Given the description of an element on the screen output the (x, y) to click on. 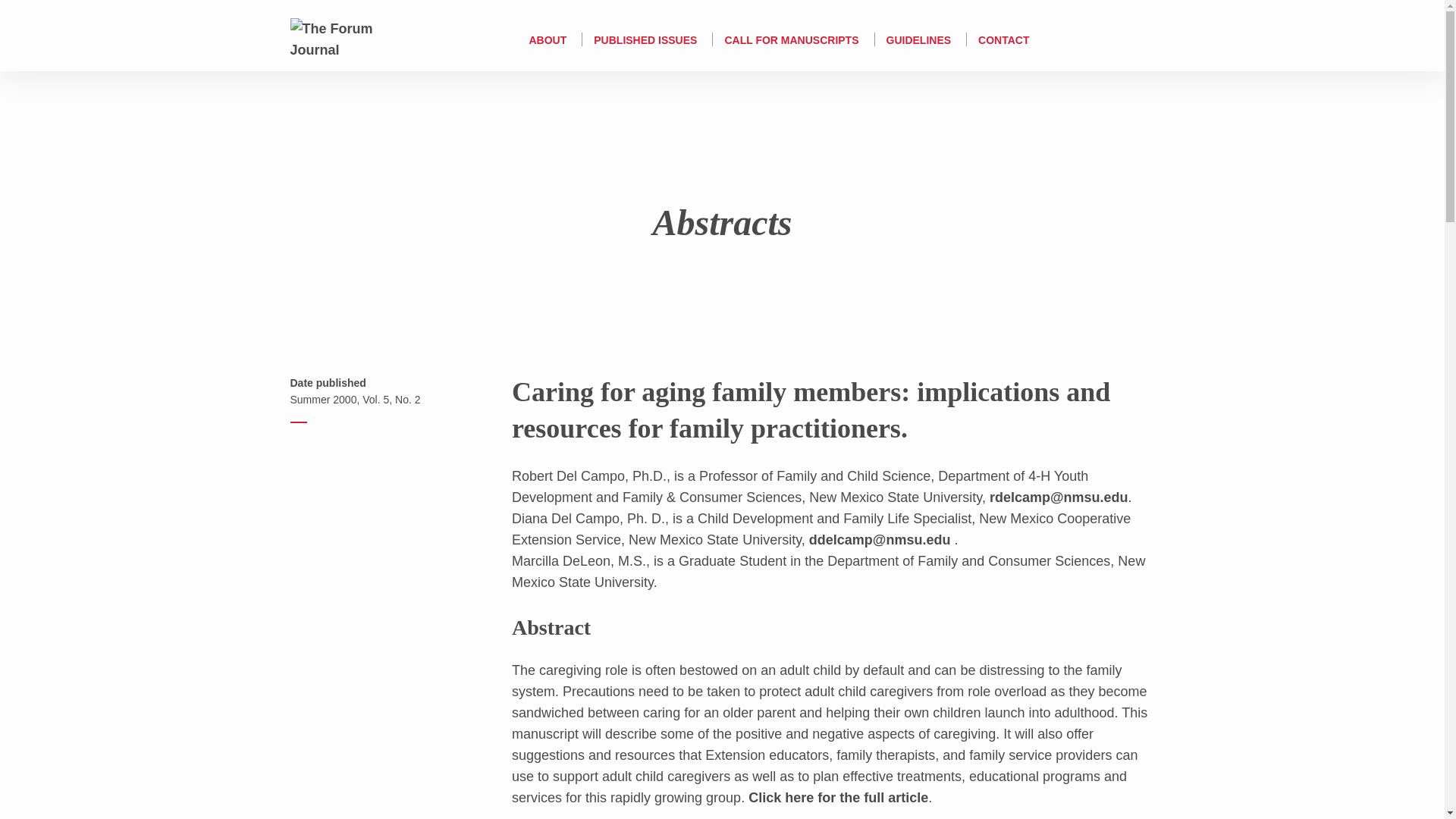
CALL FOR MANUSCRIPTS (791, 39)
ABOUT (547, 39)
GUIDELINES (919, 39)
The Forum Journal (346, 38)
PUBLISHED ISSUES (645, 39)
Click here for the full article (838, 797)
CONTACT (1003, 39)
